Given the description of an element on the screen output the (x, y) to click on. 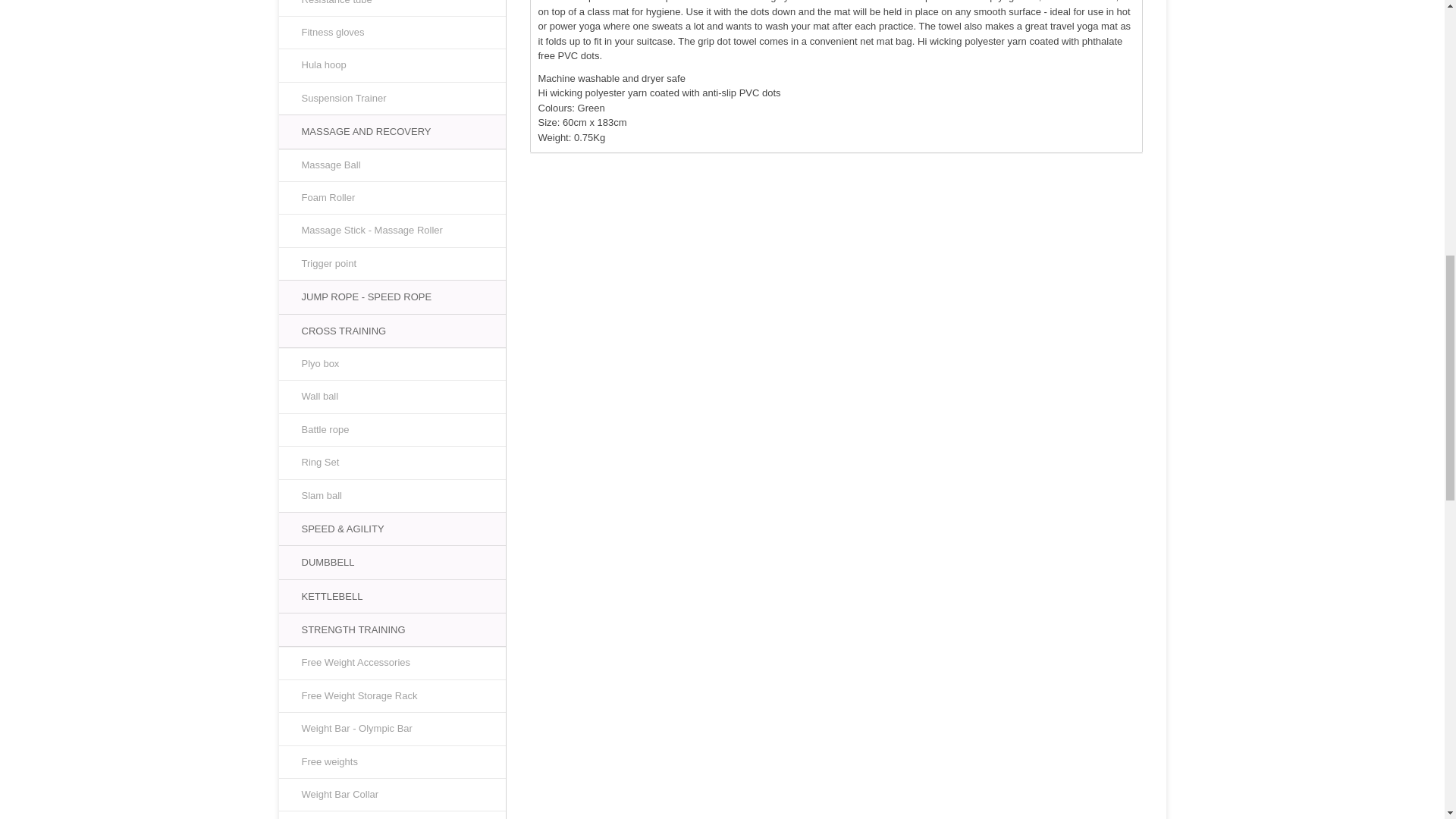
Fitness gloves (392, 32)
Massage Ball (392, 164)
Hula hoop (392, 64)
Resistance tube (392, 8)
Massage Stick - Massage Roller (392, 230)
MASSAGE AND RECOVERY (392, 131)
Plyo box (392, 363)
Slam ball (392, 495)
Trigger point (392, 263)
Suspension Trainer (392, 98)
